Given the description of an element on the screen output the (x, y) to click on. 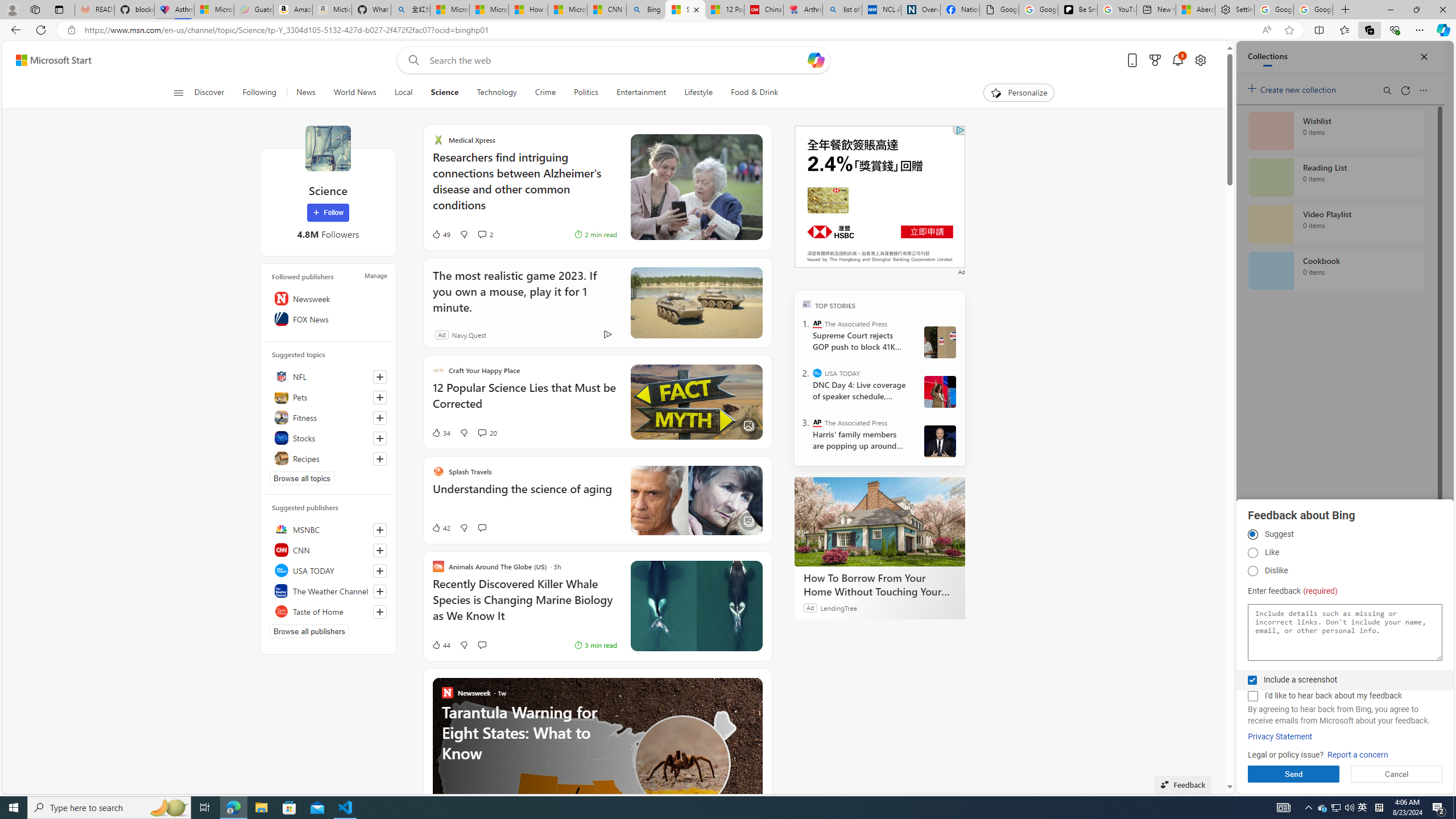
How I Got Rid of Microsoft Edge's Unnecessary Features (528, 9)
Arthritis: Ask Health Professionals (802, 9)
Cancel (1396, 773)
Like Like (1252, 552)
